Given the description of an element on the screen output the (x, y) to click on. 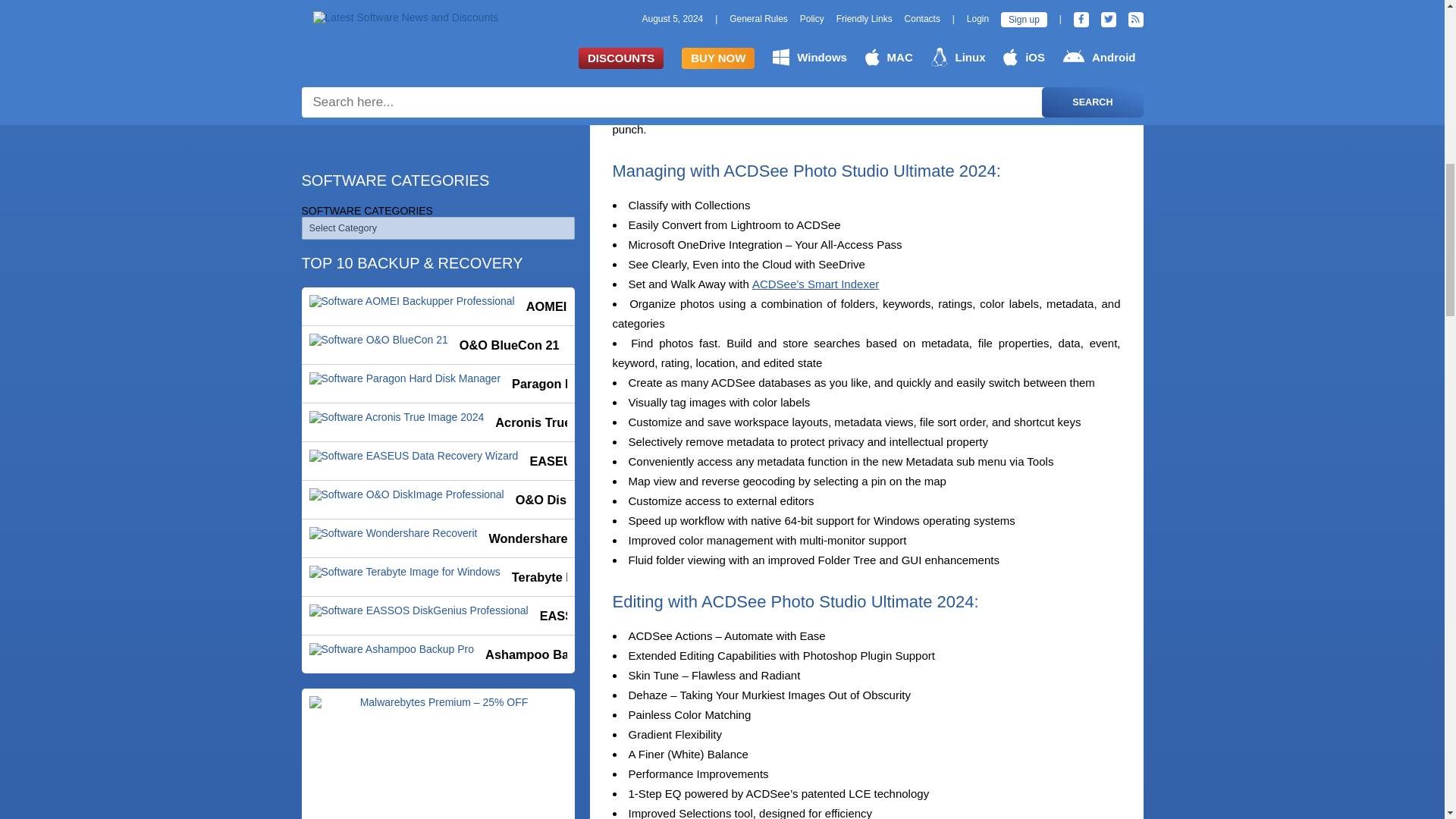
Avast One 2024 (437, 165)
Avast One 2024 (437, 165)
AVG Ultimate 2024 (437, 204)
